Given the description of an element on the screen output the (x, y) to click on. 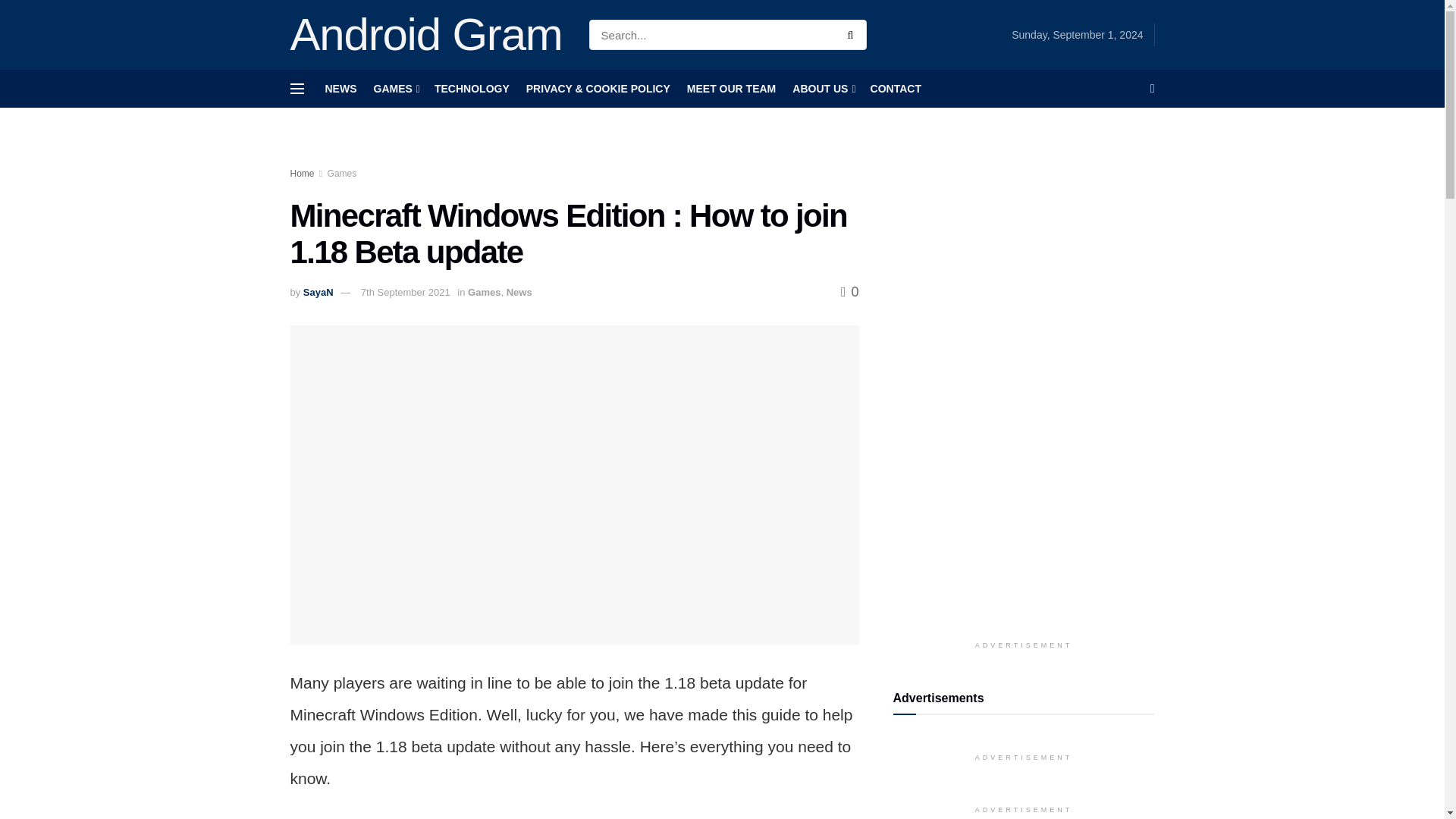
Games (483, 292)
Android Gram (425, 34)
MEET OUR TEAM (731, 88)
ABOUT US (822, 88)
SayaN (317, 292)
News (519, 292)
GAMES (394, 88)
7th September 2021 (405, 292)
0 (850, 291)
Home (301, 173)
